Given the description of an element on the screen output the (x, y) to click on. 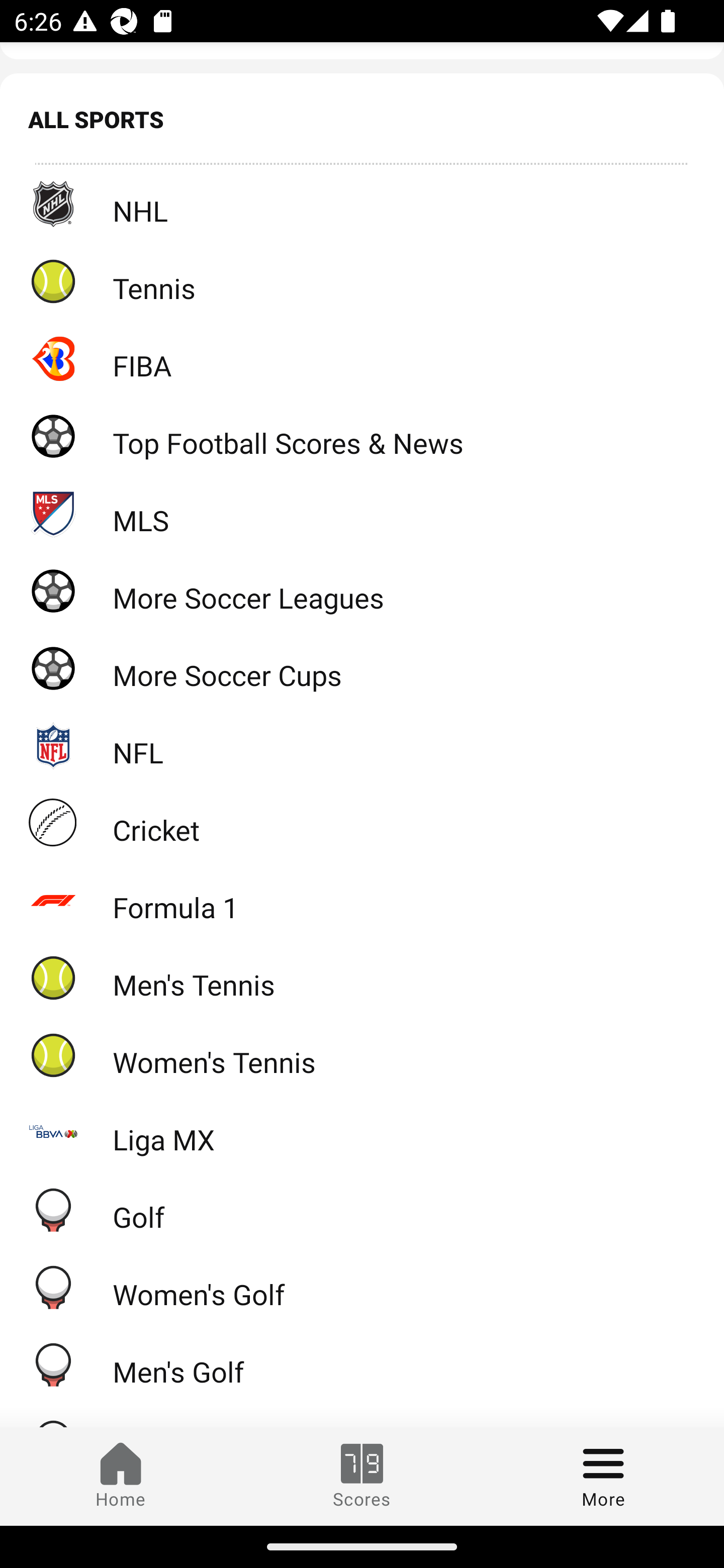
NHL (362, 202)
Tennis (362, 280)
FIBA  (362, 357)
Top Football Scores & News (362, 435)
MLS (362, 513)
More Soccer Leagues (362, 589)
More Soccer Cups (362, 667)
NFL (362, 745)
Cricket G Cricket (362, 822)
Formula 1 (362, 899)
Men's Tennis (362, 977)
Women's Tennis (362, 1054)
Liga MX (362, 1131)
Golf (362, 1209)
Women's Golf (362, 1287)
Men's Golf (362, 1364)
Home (120, 1475)
Scores (361, 1475)
